Given the description of an element on the screen output the (x, y) to click on. 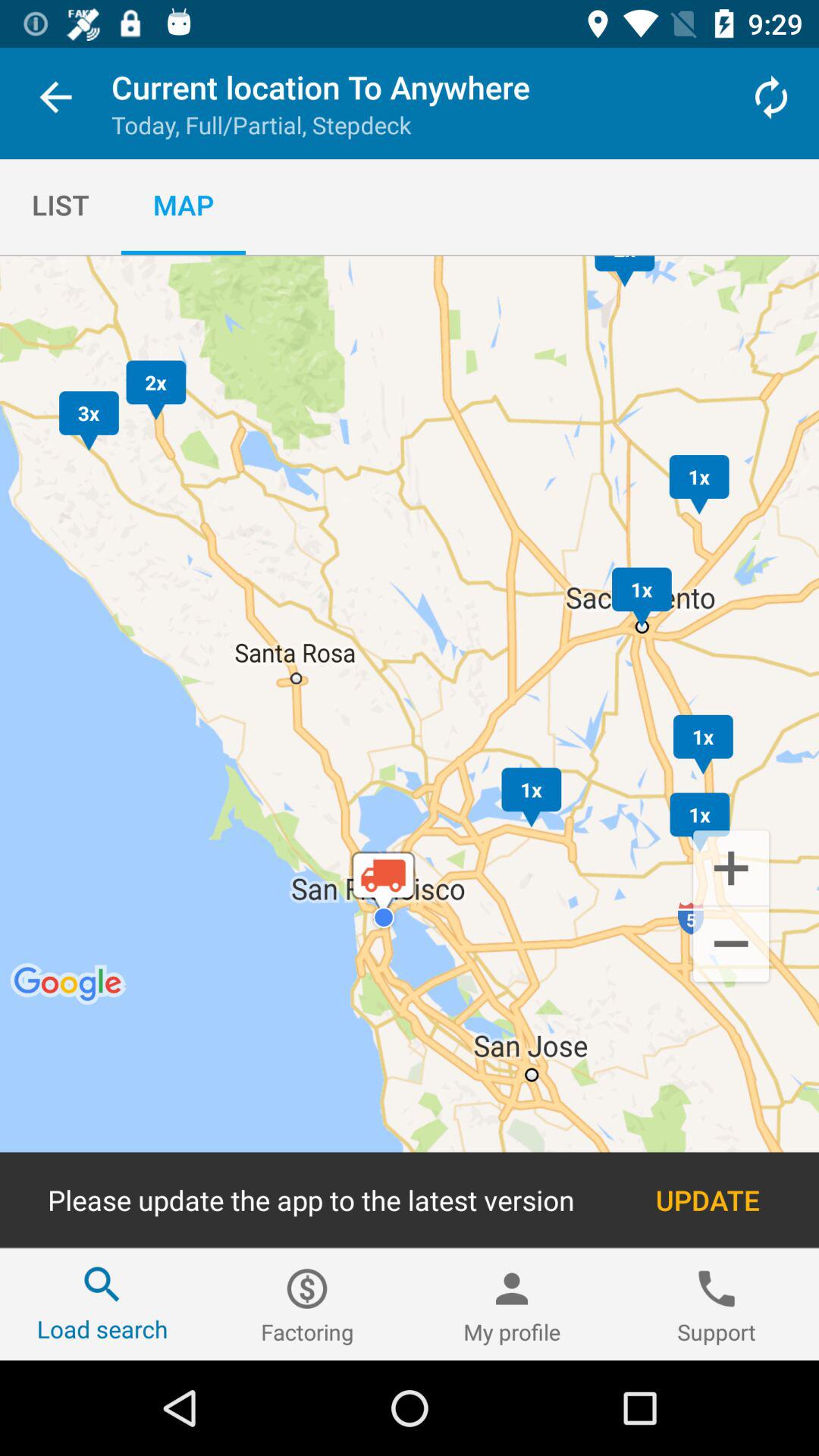
click icon at the top right corner (771, 97)
